Given the description of an element on the screen output the (x, y) to click on. 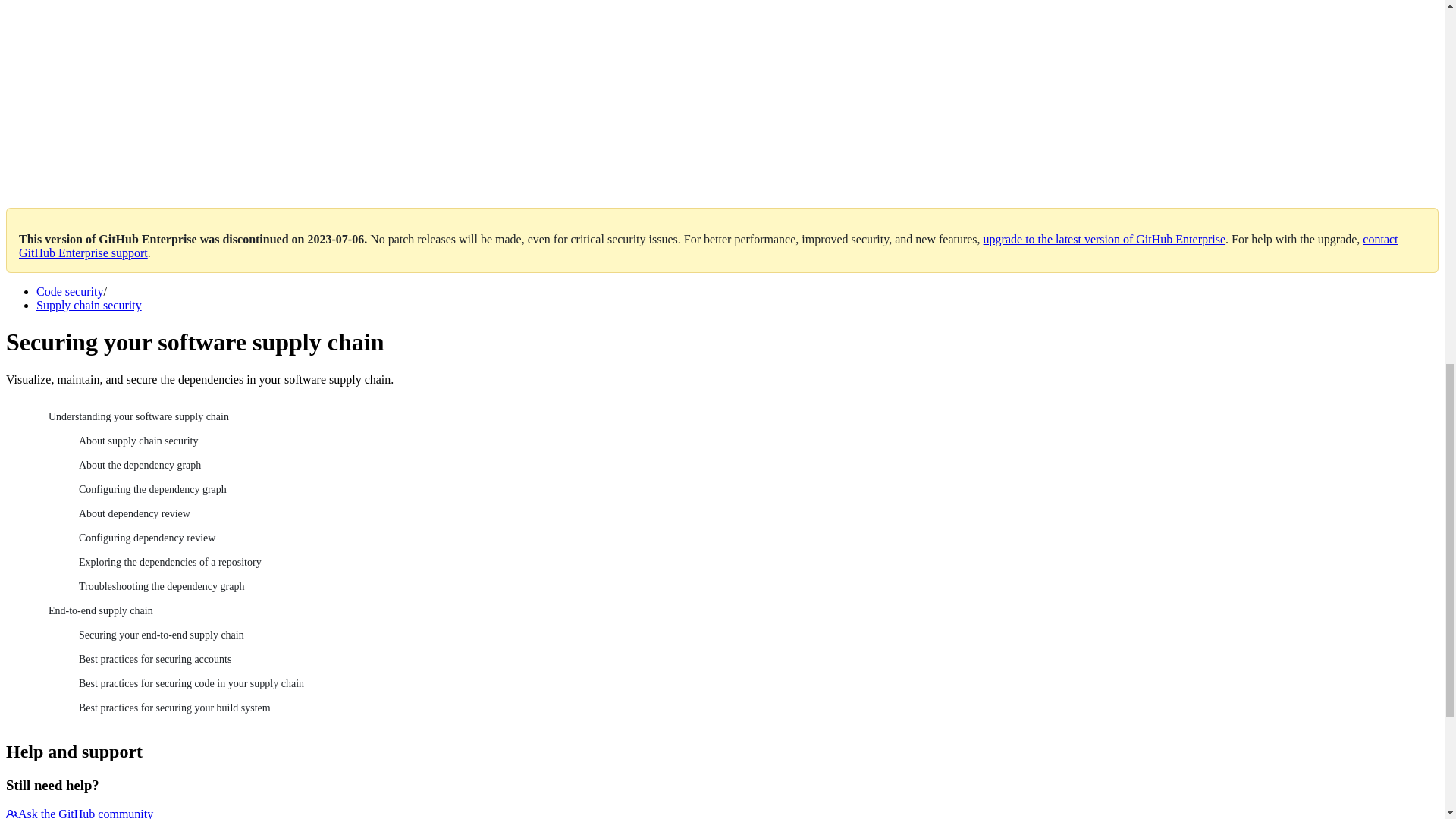
About supply chain security (752, 441)
Configuring the dependency graph (752, 489)
Supply chain security (88, 305)
Securing your end-to-end supply chain (752, 635)
contact GitHub Enterprise support (707, 245)
End-to-end supply chain (737, 610)
Ask the GitHub community (78, 813)
Code security (69, 291)
About the dependency graph (752, 465)
About dependency review (752, 514)
Supply chain security (88, 305)
Troubleshooting the dependency graph (752, 586)
Configuring dependency review (752, 538)
upgrade to the latest version of GitHub Enterprise (1104, 238)
2023-07-06 (336, 238)
